Given the description of an element on the screen output the (x, y) to click on. 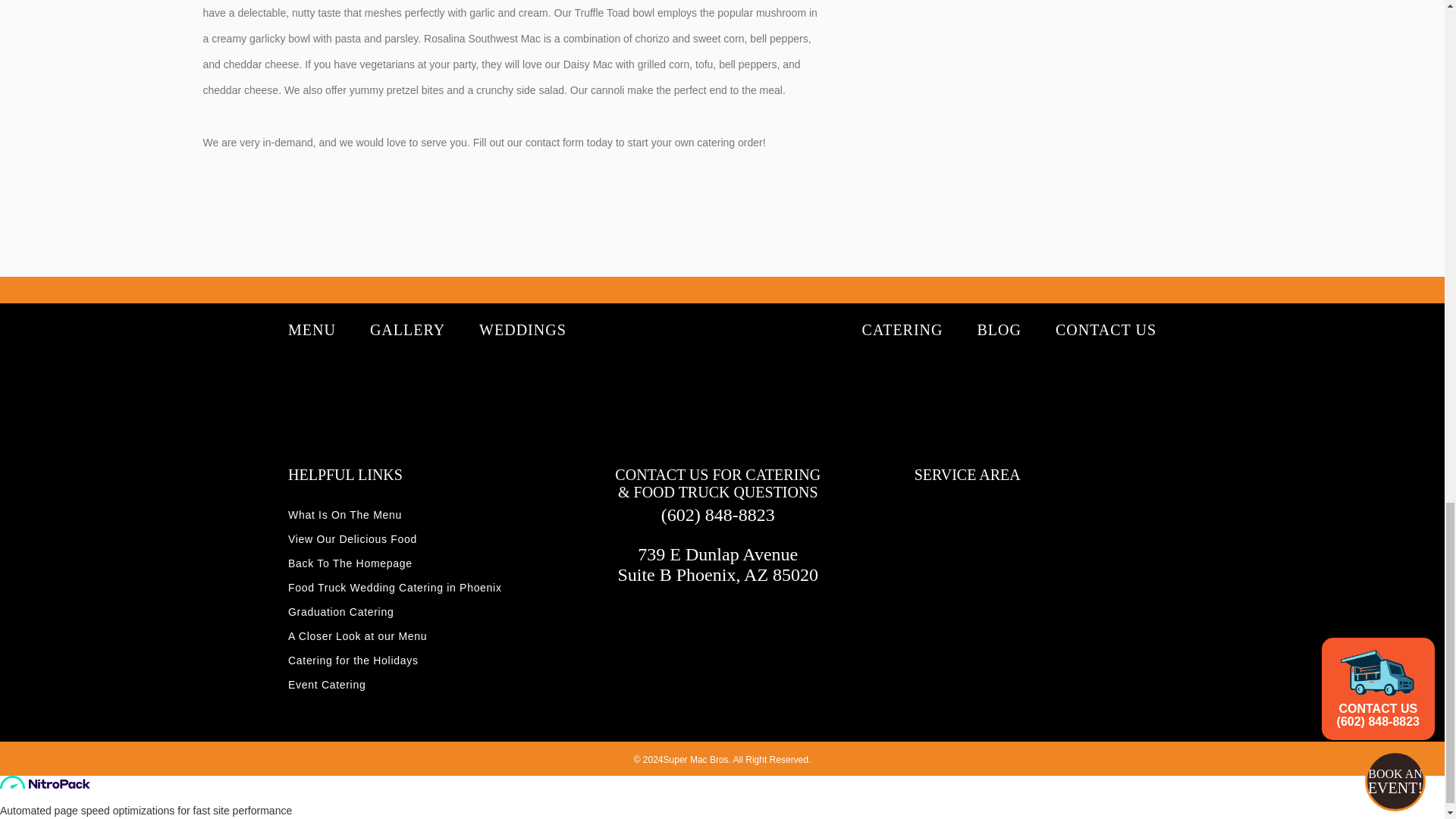
WEDDINGS (522, 329)
CATERING (902, 329)
What Is On The Menu (344, 514)
CONTACT US (1105, 329)
View Our Delicious Food (352, 539)
MENU (312, 329)
Back To The Homepage (350, 563)
BLOG (998, 329)
GALLERY (407, 329)
Super Mac Bros (716, 372)
